Given the description of an element on the screen output the (x, y) to click on. 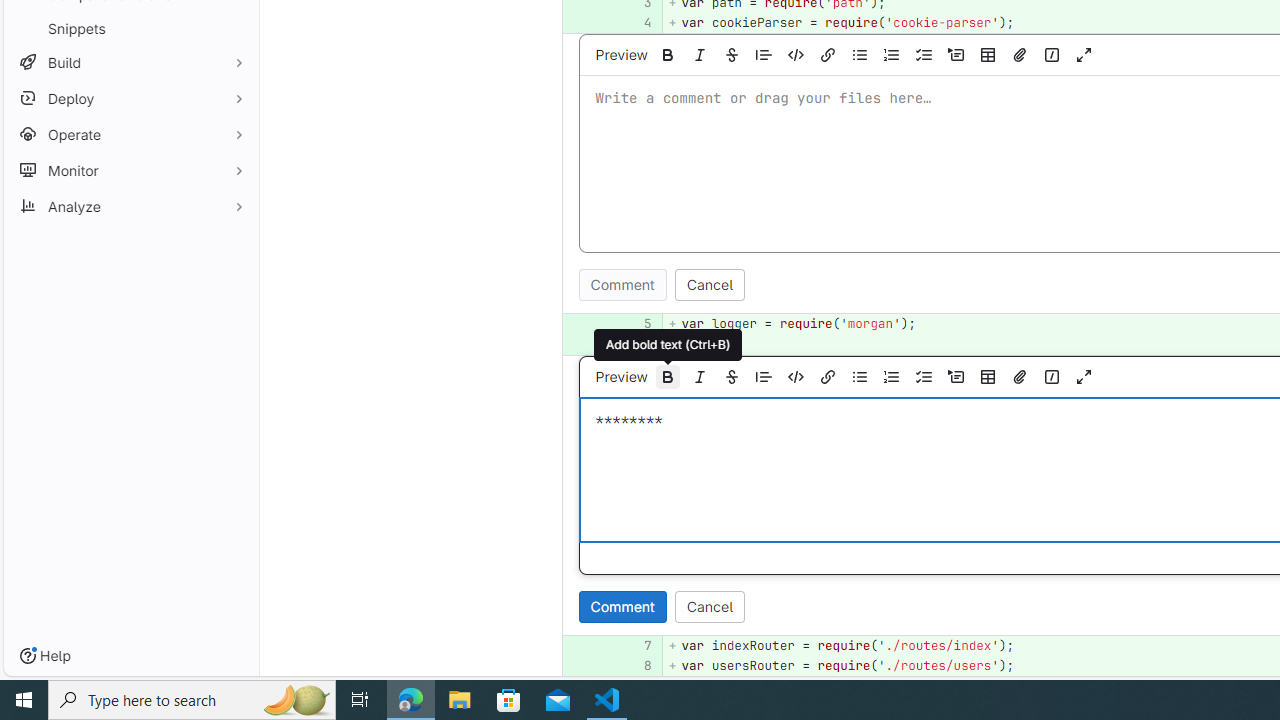
Add a table (987, 376)
Snippets (130, 28)
Build (130, 62)
Add a numbered list (891, 376)
Build (130, 62)
Class: s16 gl-icon gl-button-icon  (1083, 376)
Add a collapsible section (955, 376)
Add a comment to this line  (587, 665)
4 (637, 22)
Add bold text (Ctrl+B) (667, 376)
Add a checklist (923, 376)
Go full screen (1083, 376)
Deploy (130, 98)
6 (637, 344)
Add a comment to this line (562, 665)
